Given the description of an element on the screen output the (x, y) to click on. 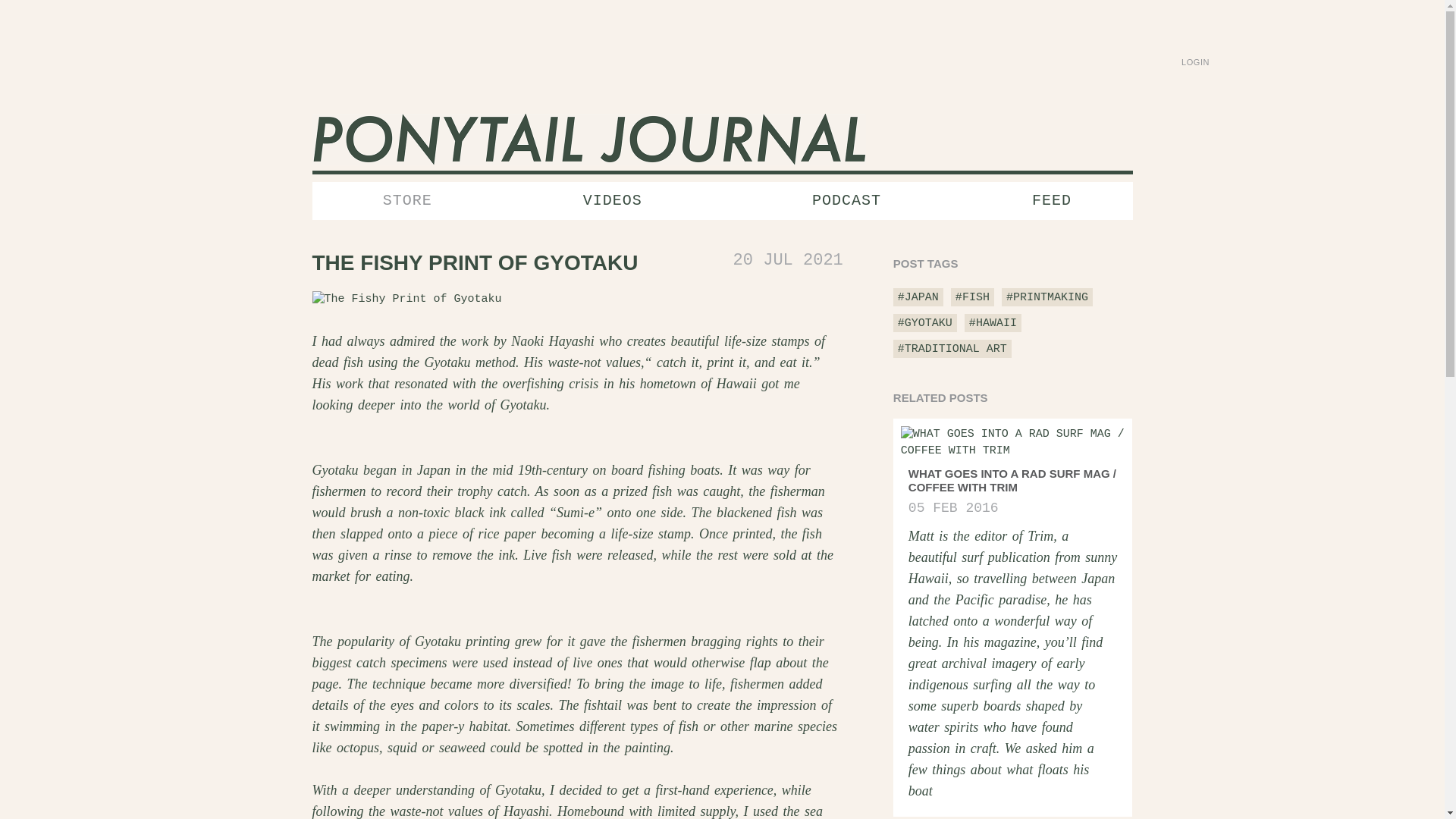
STORE (407, 200)
Ponytail Journal (589, 140)
LOGIN (1194, 50)
VIDEOS (612, 200)
FEED (1051, 200)
PODCAST (846, 200)
